Given the description of an element on the screen output the (x, y) to click on. 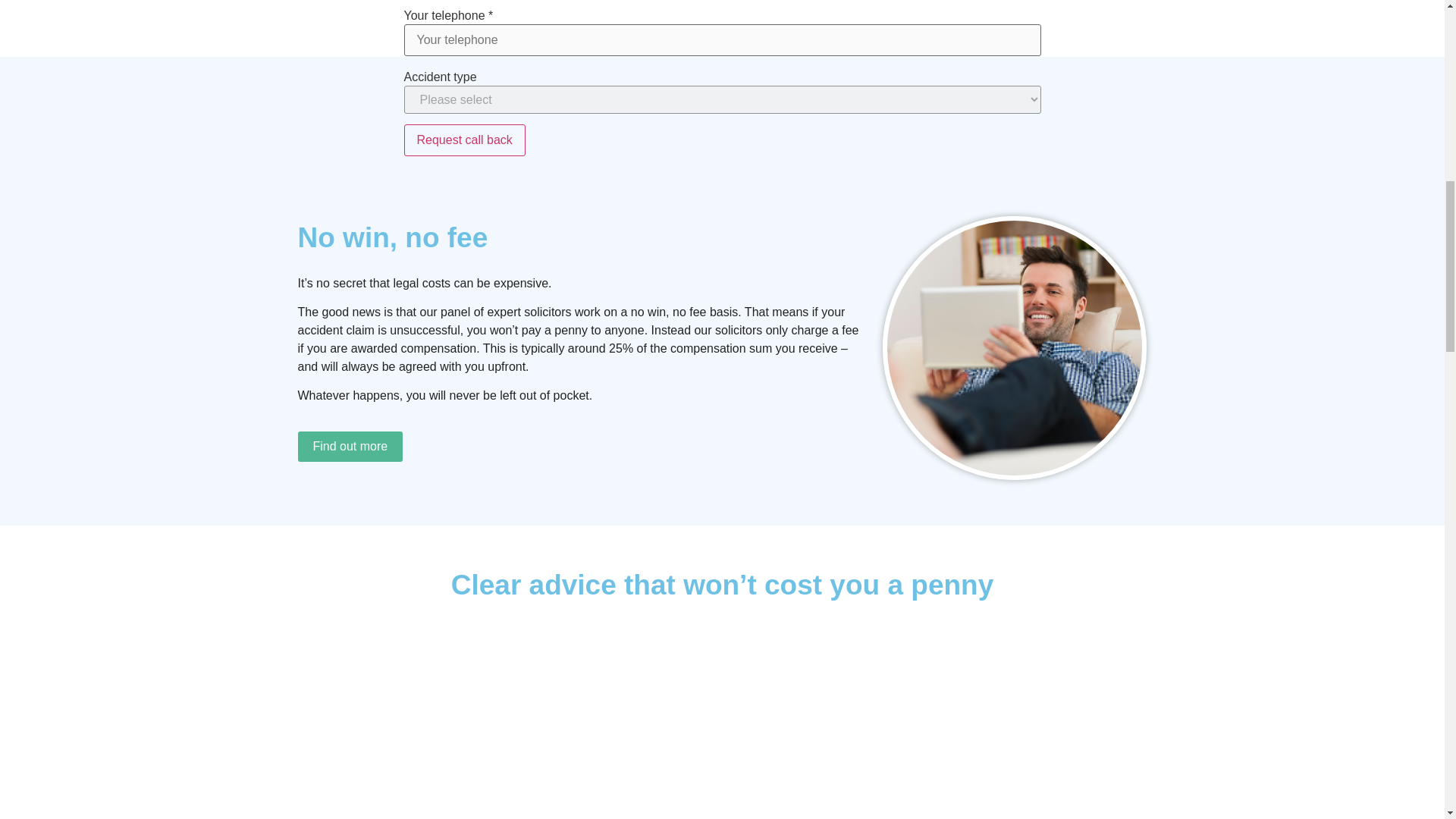
Request call back (463, 140)
Request call back (463, 140)
Find out more (350, 446)
